Given the description of an element on the screen output the (x, y) to click on. 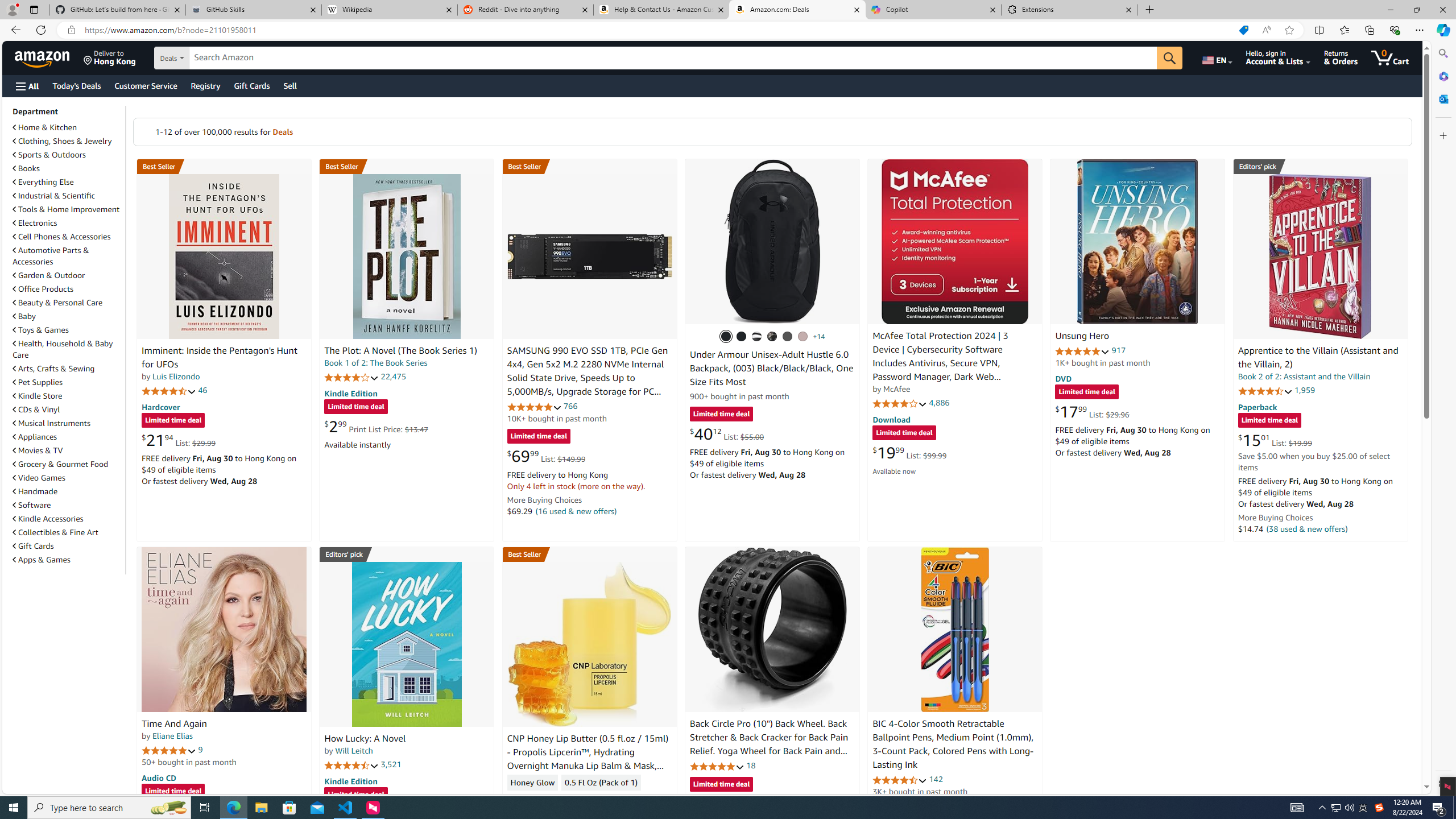
Everything Else (67, 181)
Clothing, Shoes & Jewelry (62, 140)
CDs & Vinyl (67, 409)
4.7 out of 5 stars (168, 390)
Kindle Edition (350, 780)
Go (1169, 57)
4.2 out of 5 stars (352, 377)
Video Games (39, 477)
Hardcover (160, 406)
Appliances (67, 436)
Gift Cards (33, 545)
Office Products (67, 288)
